Given the description of an element on the screen output the (x, y) to click on. 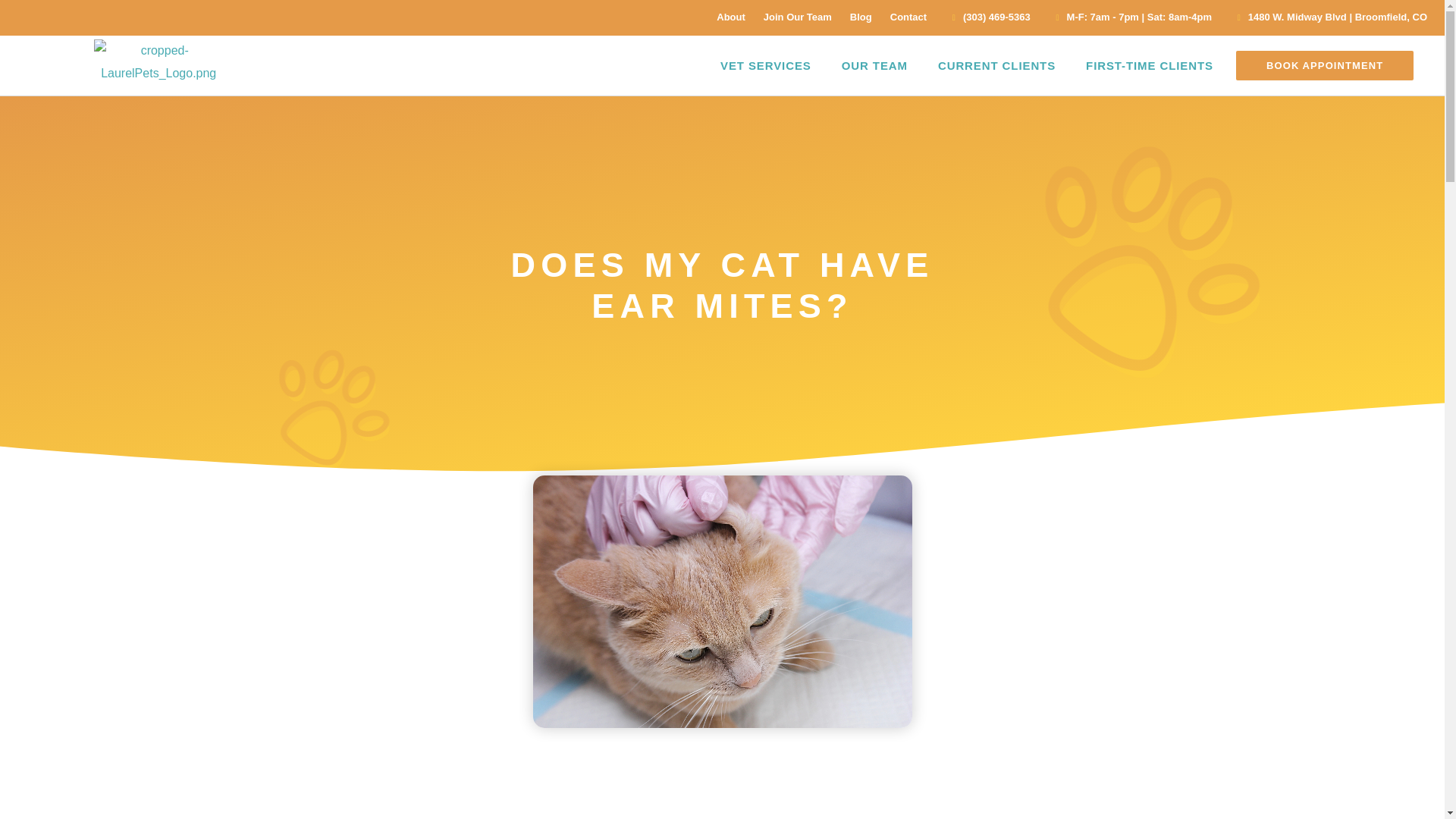
FIRST-TIME CLIENTS (1149, 65)
Contact (907, 17)
BOOK APPOINTMENT (1324, 65)
OUR TEAM (875, 65)
Join Our Team (796, 17)
Blog (861, 17)
CURRENT CLIENTS (996, 65)
About (730, 17)
VET SERVICES (765, 65)
